Given the description of an element on the screen output the (x, y) to click on. 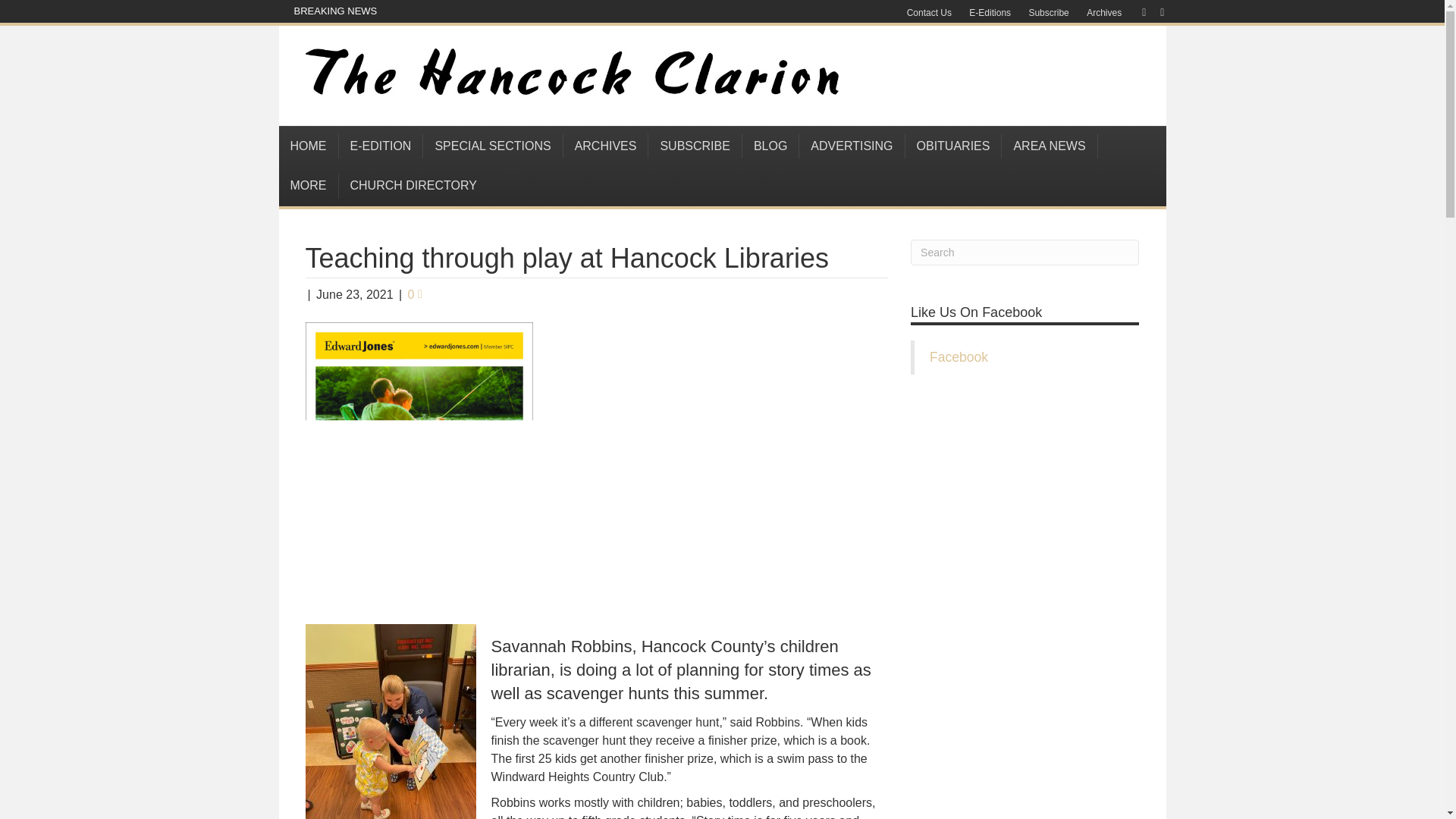
E-EDITION (380, 146)
SUBSCRIBE (694, 146)
E-Editions (988, 13)
ADVERTISING (851, 146)
Type and press Enter to search. (1024, 252)
AREA NEWS (1049, 146)
HOME (309, 146)
ARCHIVES (606, 146)
OBITUARIES (954, 146)
Archives (1103, 13)
